Given the description of an element on the screen output the (x, y) to click on. 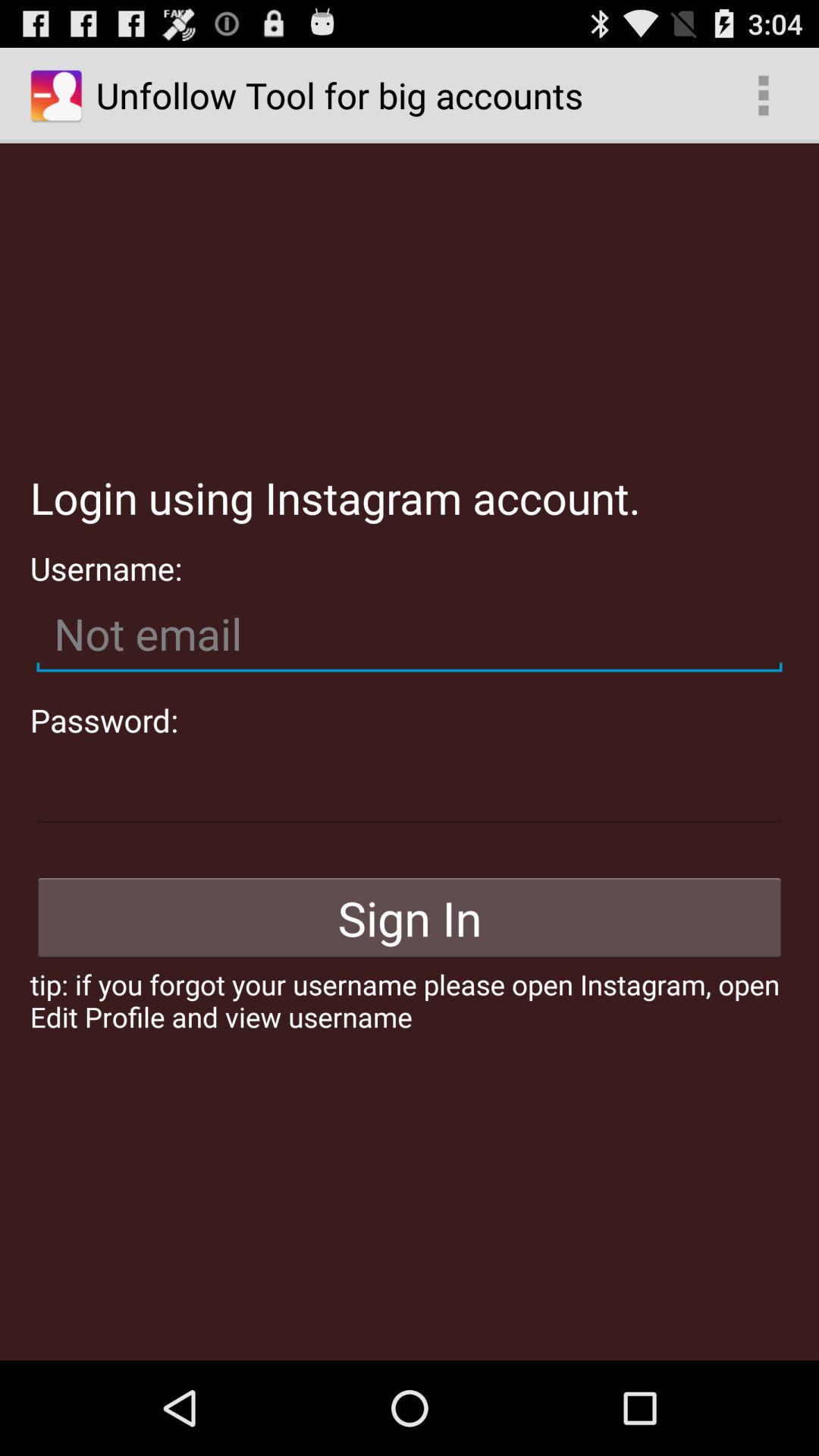
username (409, 633)
